Given the description of an element on the screen output the (x, y) to click on. 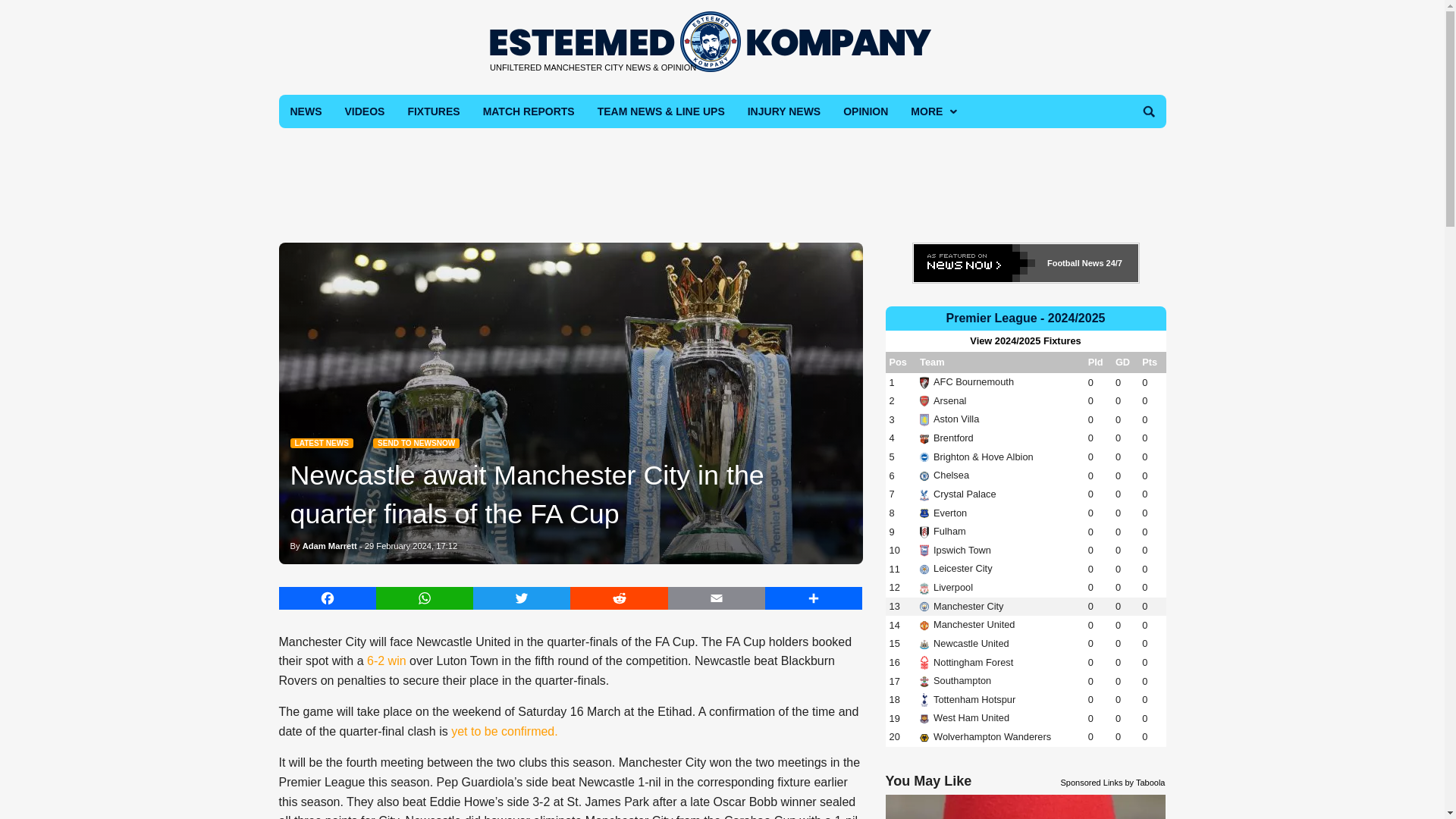
Twitter (521, 598)
Adam Marrett (329, 545)
Latest Latest News News (320, 442)
Facebook (327, 598)
VIDEOS (364, 111)
WhatsApp (424, 598)
Twitter (521, 598)
FIXTURES (433, 111)
Search (1147, 111)
Reddit (618, 598)
SEND TO NEWSNOW (416, 442)
Facebook (327, 598)
Email (716, 598)
NEWS (306, 111)
